Given the description of an element on the screen output the (x, y) to click on. 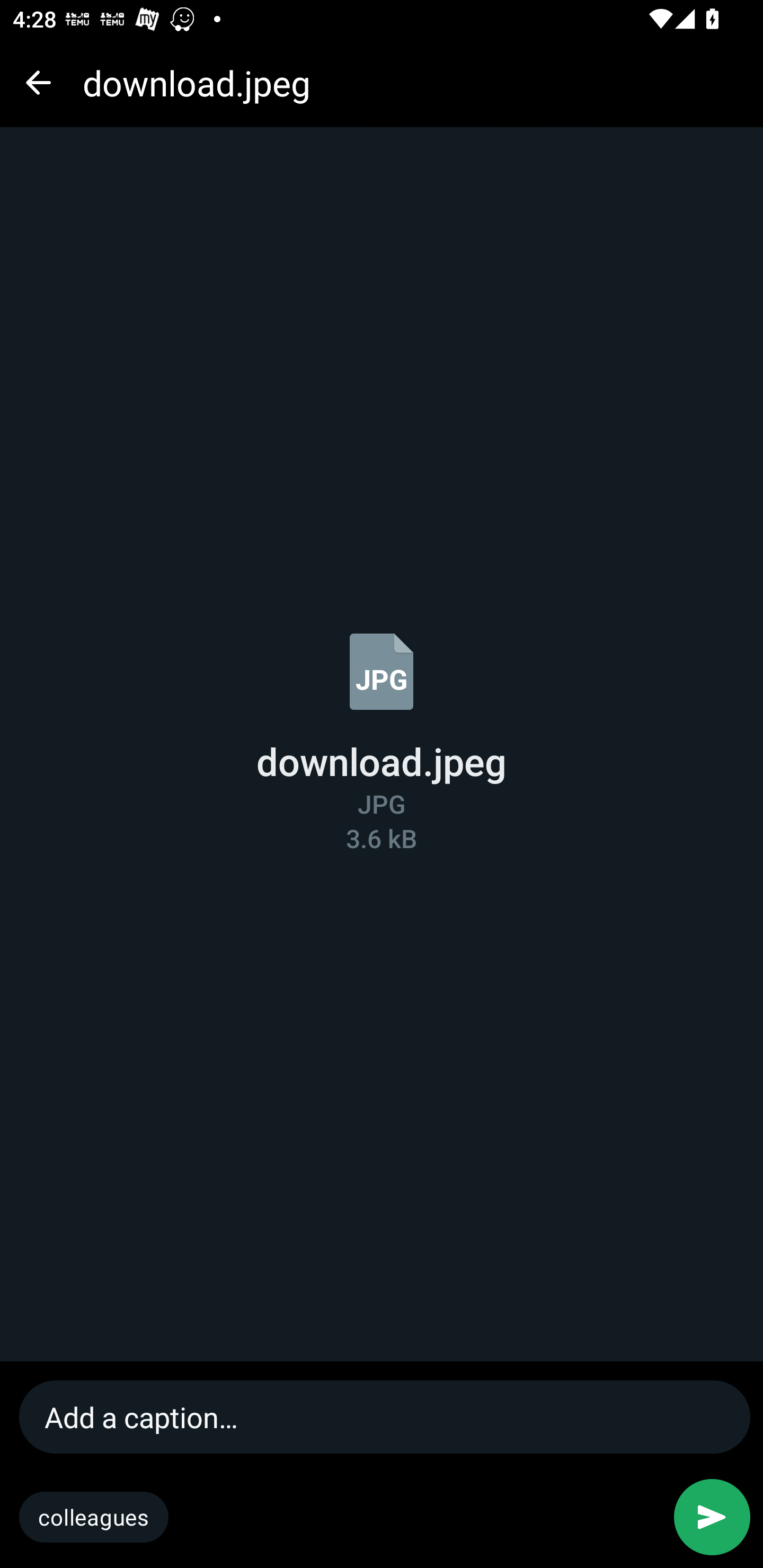
Navigate up (38, 82)
Add a caption… (385, 1416)
colleagues (93, 1516)
Send (711, 1516)
